Given the description of an element on the screen output the (x, y) to click on. 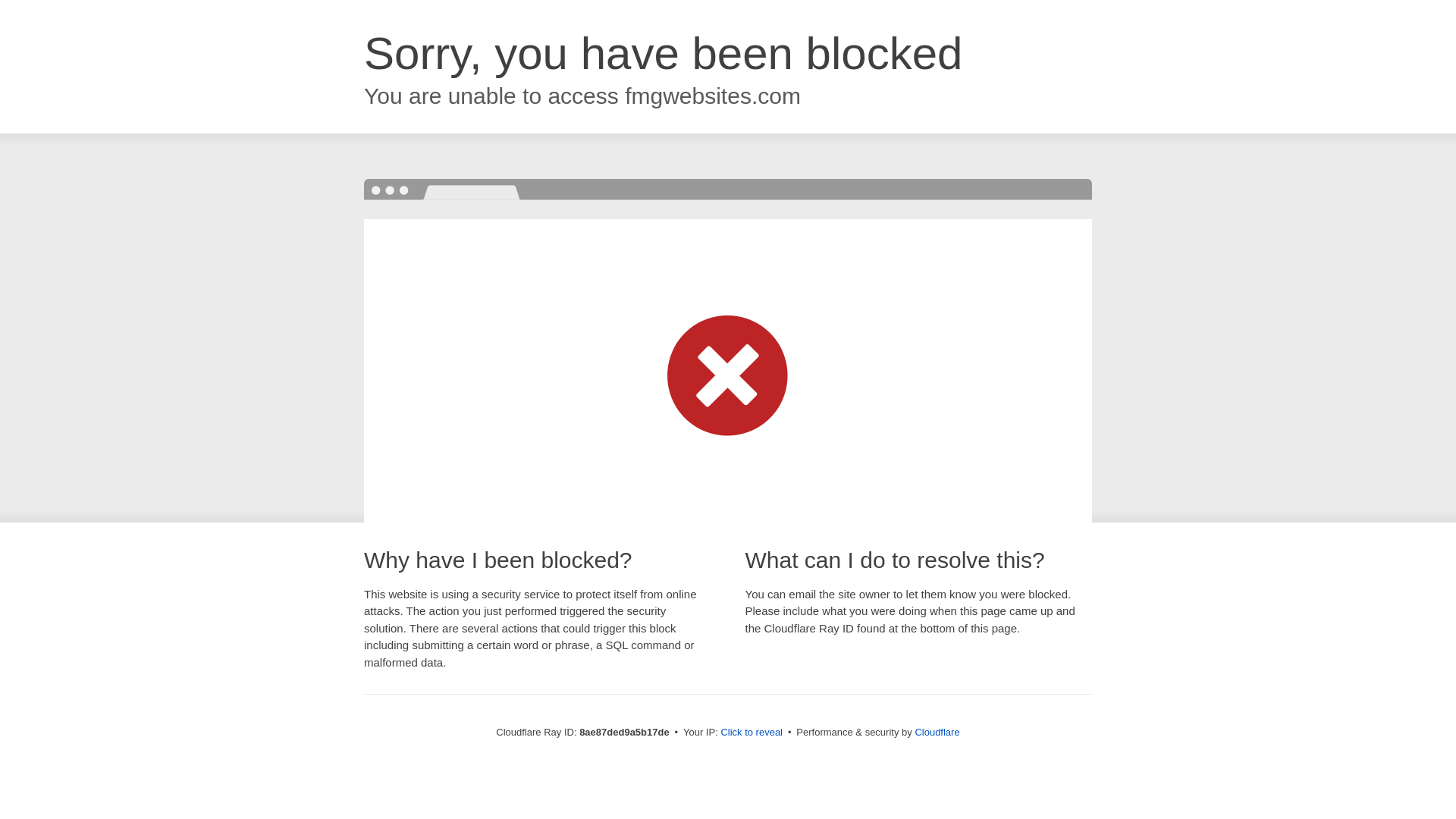
Click to reveal (751, 732)
Cloudflare (936, 731)
